Given the description of an element on the screen output the (x, y) to click on. 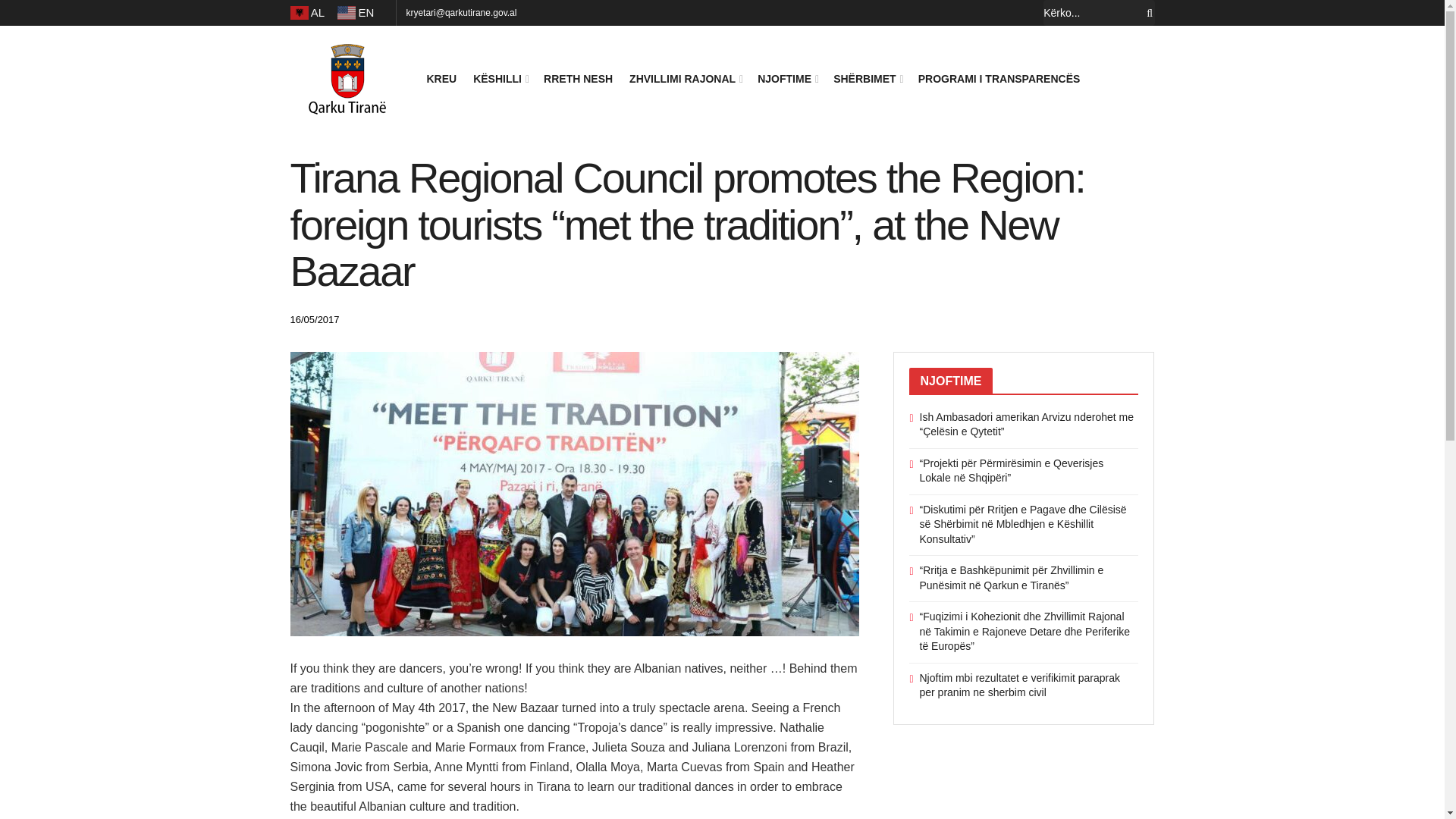
EN (357, 13)
Shqip (309, 13)
ZHVILLIMI RAJONAL (684, 78)
NJOFTIME (786, 78)
KREU (441, 78)
RRETH NESH (577, 78)
English (357, 13)
AL (309, 13)
